Given the description of an element on the screen output the (x, y) to click on. 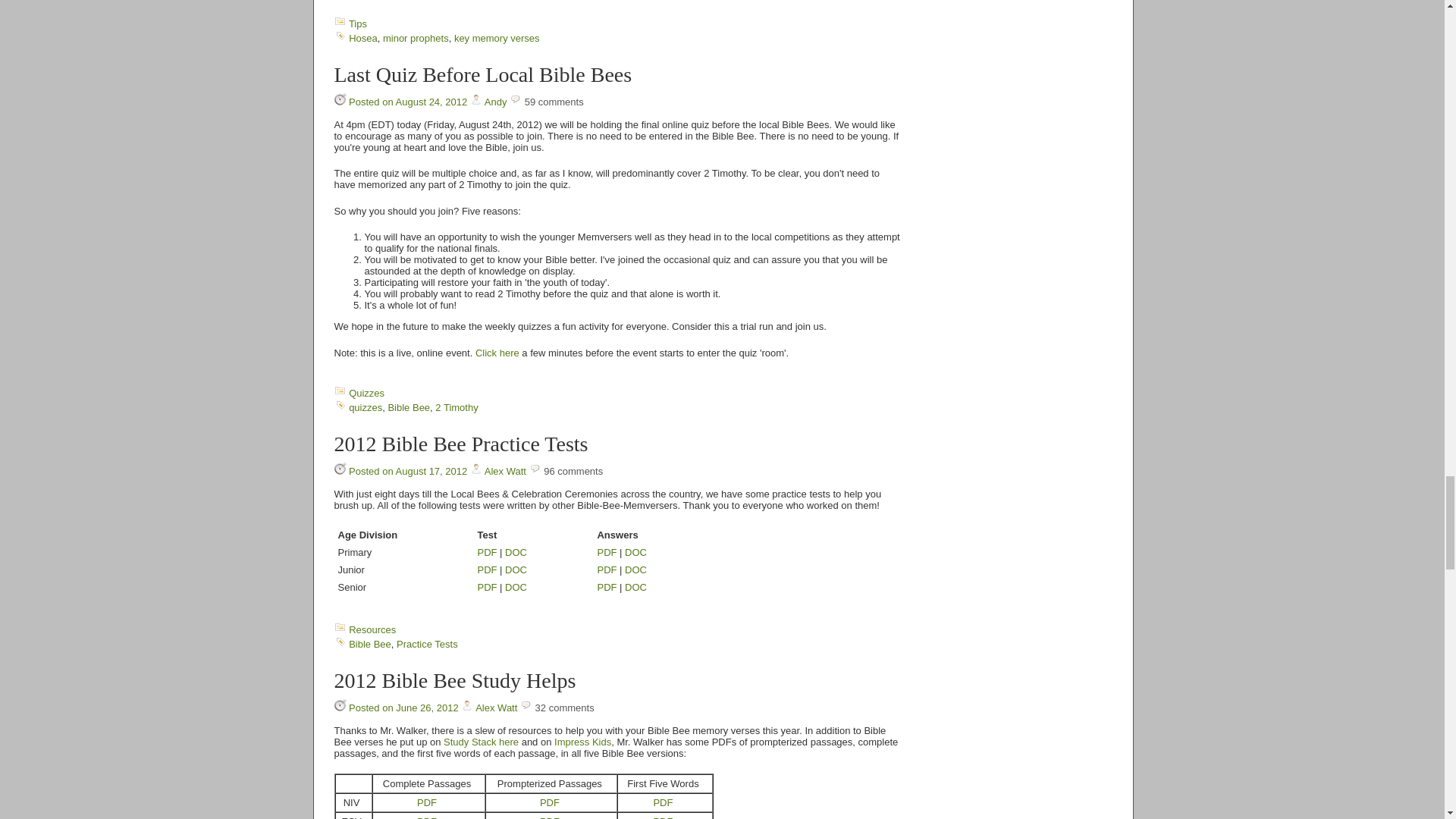
PDF (487, 569)
DOC (635, 569)
PDF (605, 586)
DOC (635, 586)
PDF (605, 569)
DOC (516, 552)
PDF (487, 552)
PDF (605, 552)
DOC (516, 569)
DOC (635, 552)
PDF (487, 586)
DOC (516, 586)
